Given the description of an element on the screen output the (x, y) to click on. 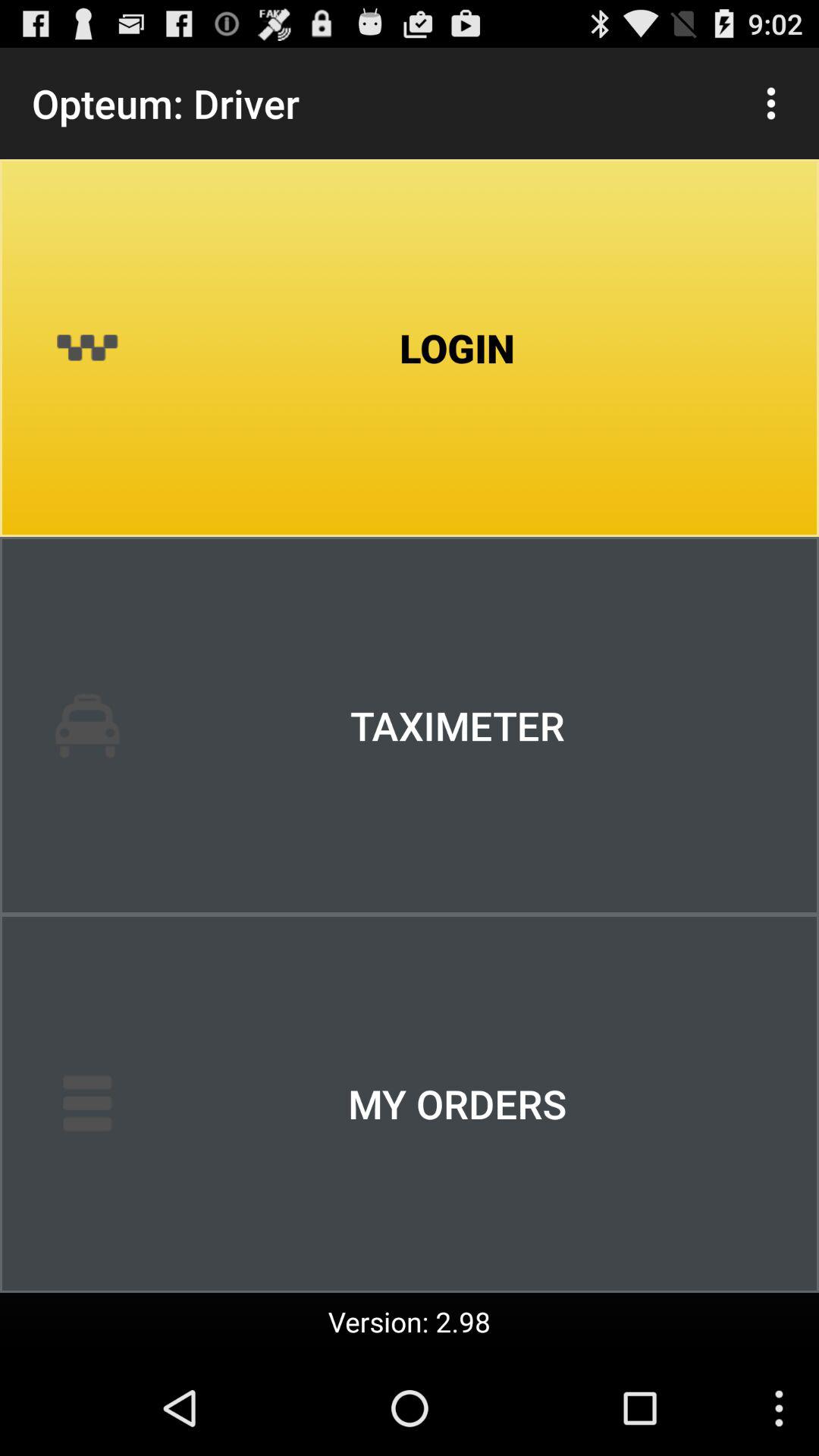
choose icon to the right of opteum: driver (771, 103)
